Given the description of an element on the screen output the (x, y) to click on. 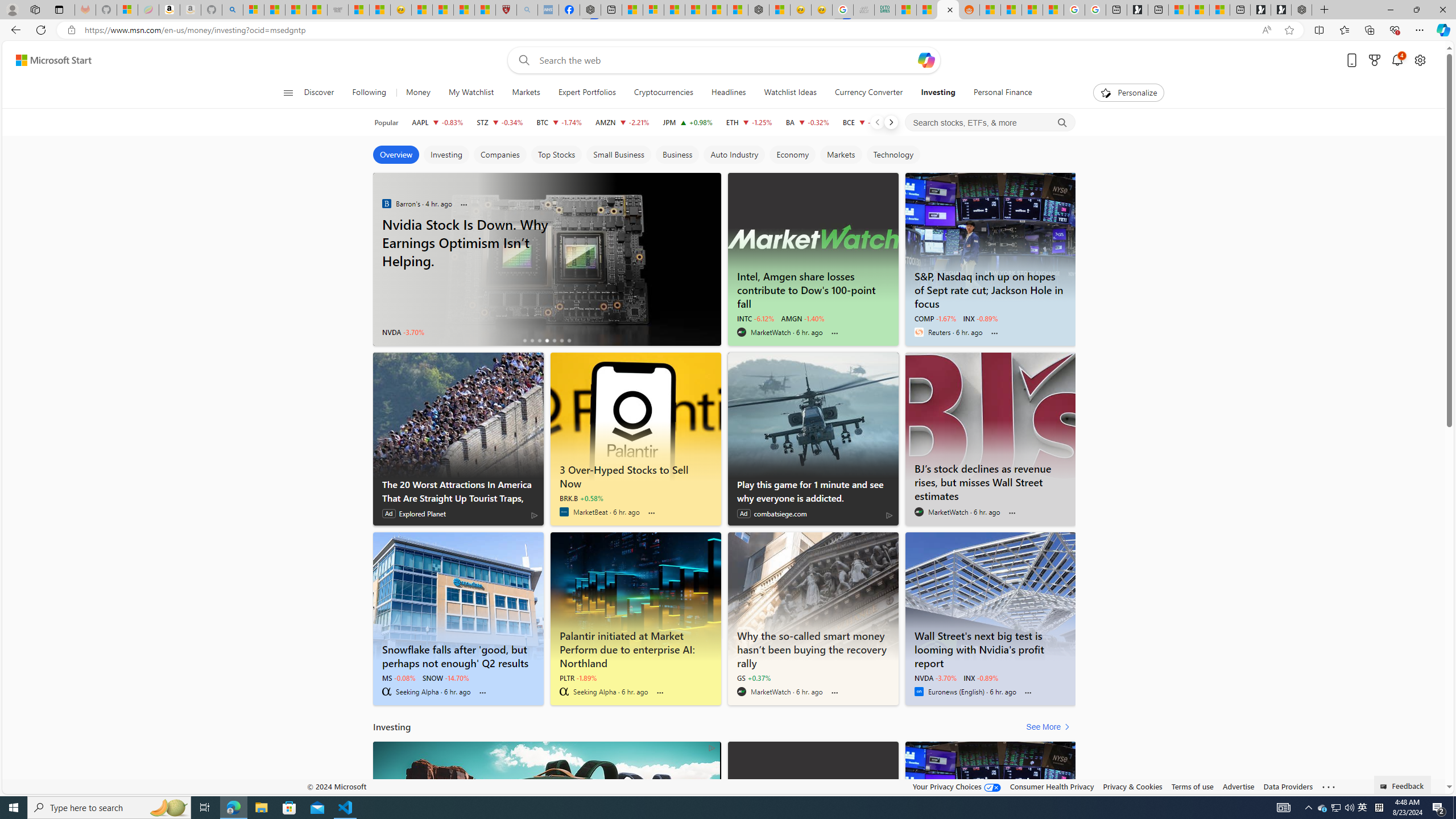
Investing (445, 154)
Favorites (1344, 29)
Top Stocks (555, 154)
Microsoft rewards (1374, 60)
Back (13, 29)
Class: feedback_link_icon-DS-EntryPoint1-1 (1384, 786)
Skip to content (49, 59)
JPM JPMORGAN CHASE & CO. increase 216.71 +2.11 +0.98% (687, 122)
Popular (386, 121)
Personal Finance (1002, 92)
Money (417, 92)
